Given the description of an element on the screen output the (x, y) to click on. 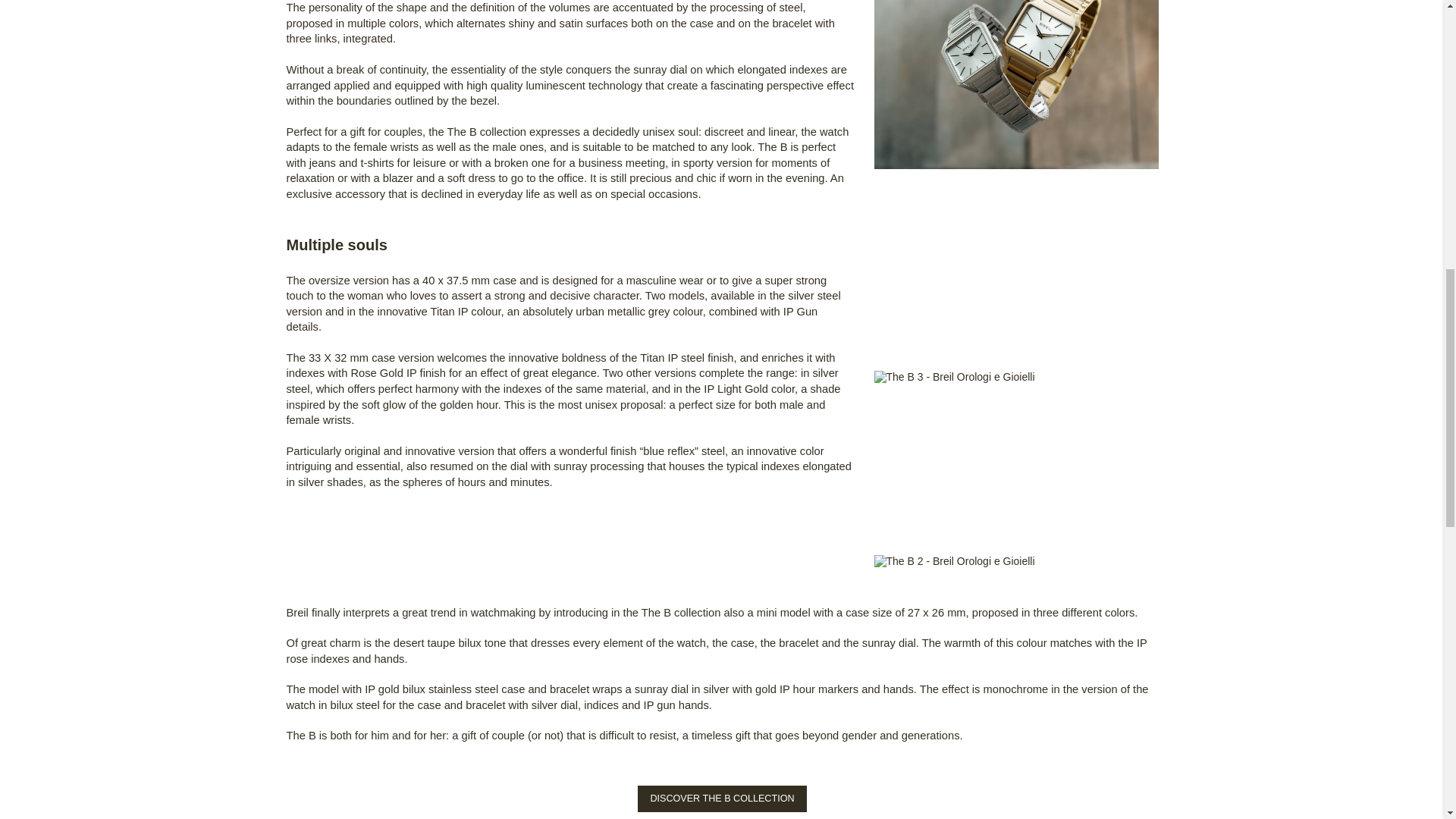
The B - Breil Orologi e Gioielli (1015, 84)
The B 3 - Breil Orologi e Gioielli (953, 377)
The B 2 - Breil Orologi e Gioielli (953, 561)
